Given the description of an element on the screen output the (x, y) to click on. 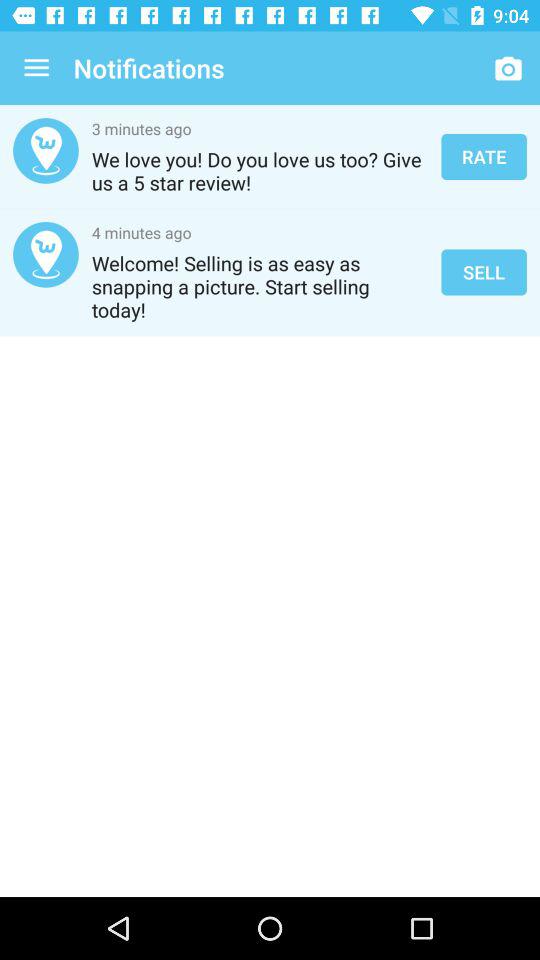
click on the button which is next to the notifications (508, 68)
